Given the description of an element on the screen output the (x, y) to click on. 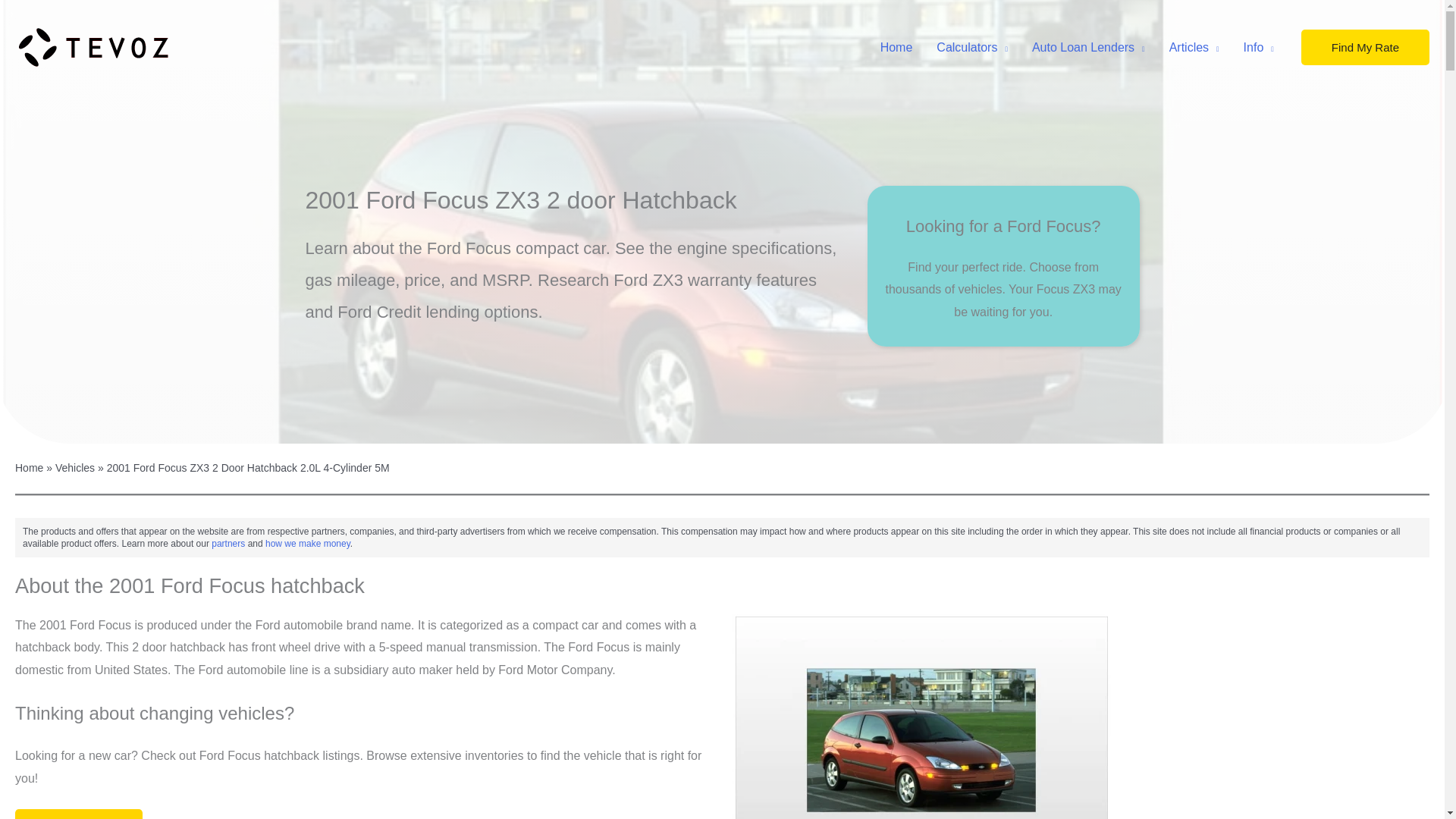
Auto Loan Lenders (1088, 47)
Calculators (972, 47)
Home (895, 47)
Find My Rate (1365, 47)
Articles (1194, 47)
Info (1258, 47)
